Given the description of an element on the screen output the (x, y) to click on. 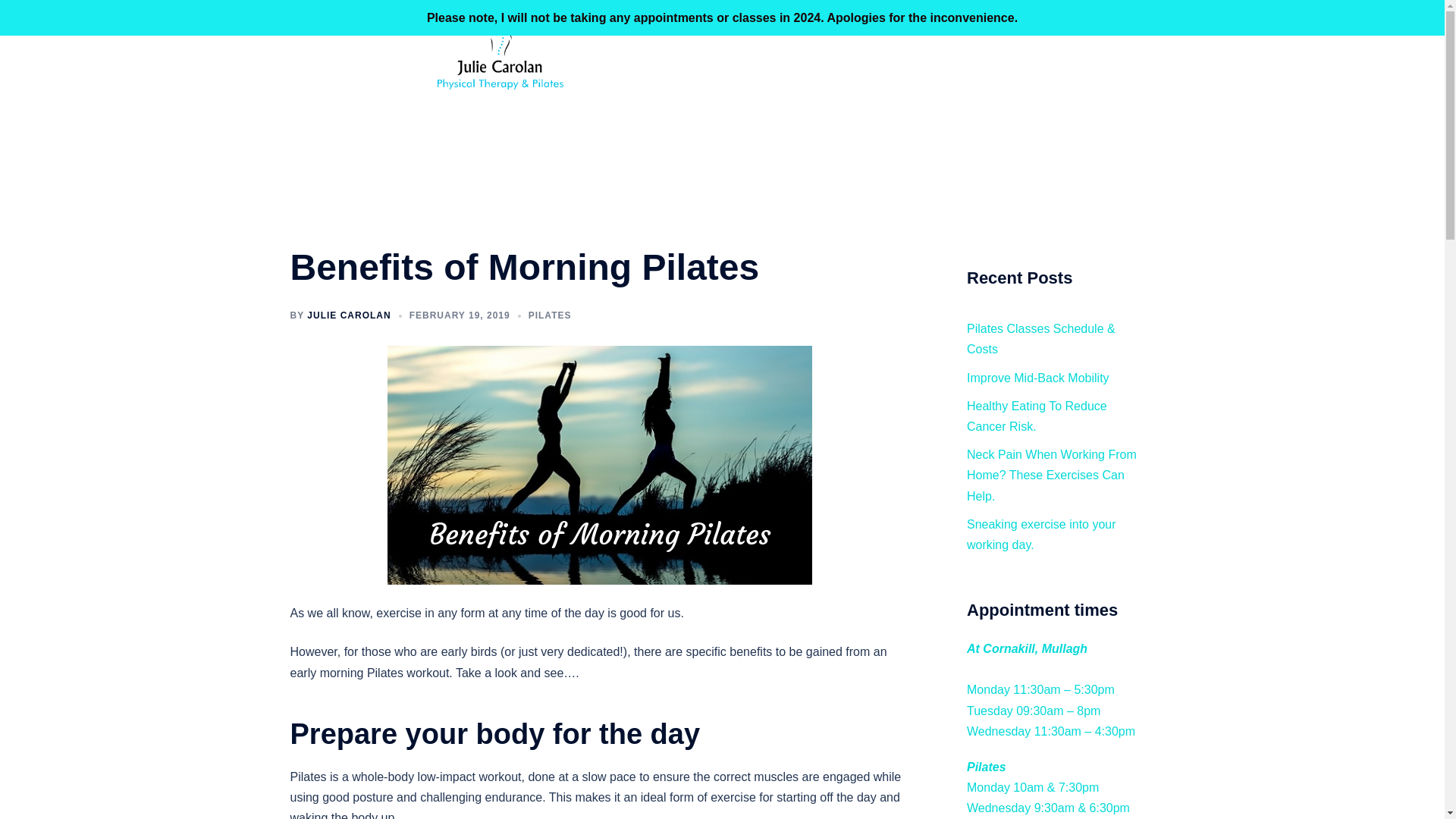
FEBRUARY 19, 2019 (460, 315)
PILATES (550, 315)
JULIE CAROLAN (348, 315)
About (815, 64)
News (925, 64)
Services (871, 64)
Contact (978, 64)
Testimonials (1113, 64)
Improve Mid-Back Mobility (1037, 377)
Neck Pain When Working From Home? These Exercises Can Help. (1051, 474)
Home (766, 64)
Sneaking exercise into your working day. (1041, 534)
Locations (1041, 64)
Healthy Eating To Reduce Cancer Risk. (1036, 416)
